Given the description of an element on the screen output the (x, y) to click on. 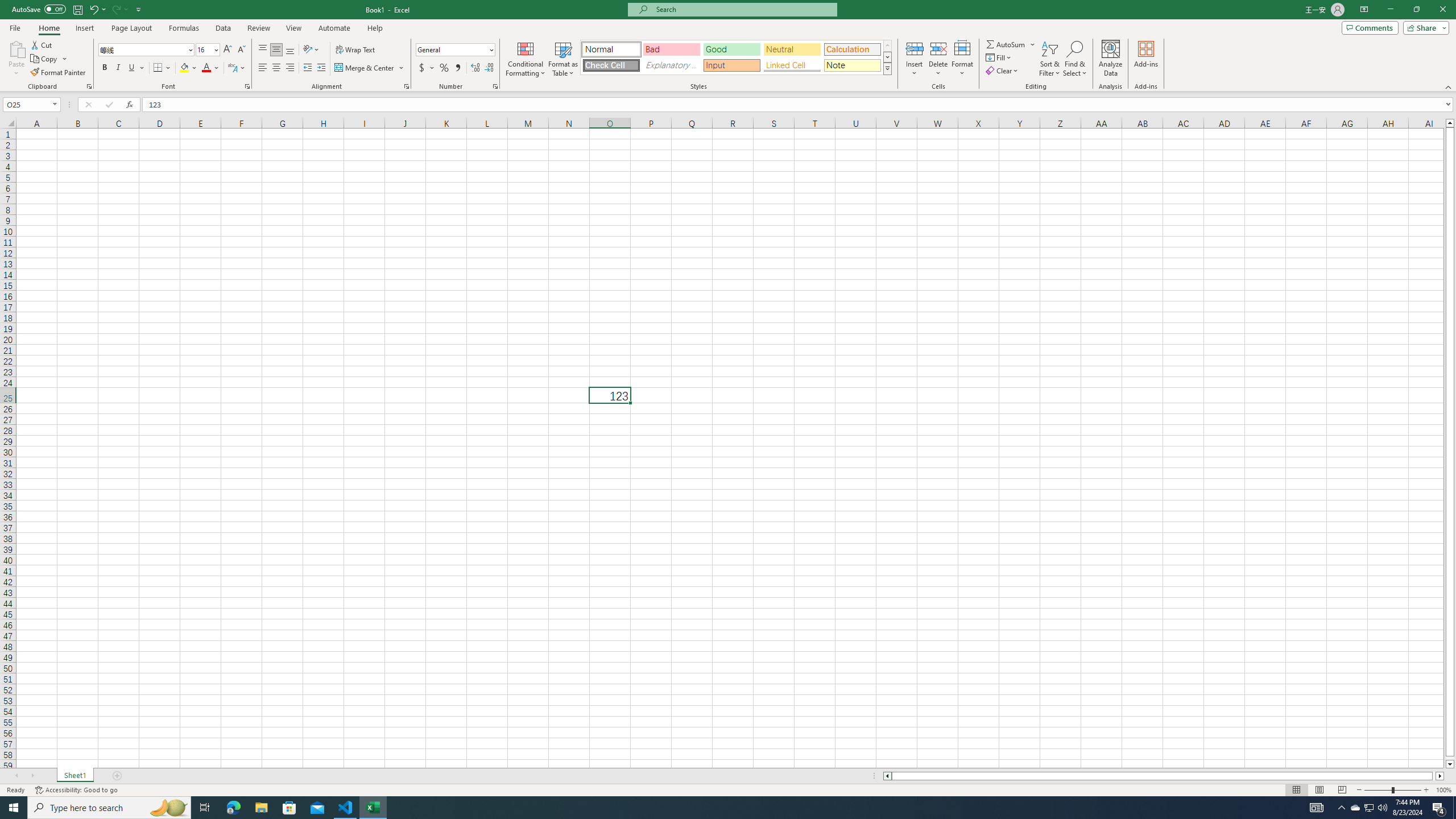
Font Color RGB(255, 0, 0) (206, 67)
Row Down (887, 56)
Decrease Decimal (489, 67)
Good (731, 49)
Accessibility Checker Accessibility: Good to go (76, 790)
Align Right (290, 67)
Formula Bar (799, 104)
AutomationID: CellStylesGallery (736, 57)
Orientation (311, 49)
Zoom Out (1377, 790)
Underline (131, 67)
Cut (42, 44)
Help (374, 28)
Show Phonetic Field (236, 67)
Close (1442, 9)
